Given the description of an element on the screen output the (x, y) to click on. 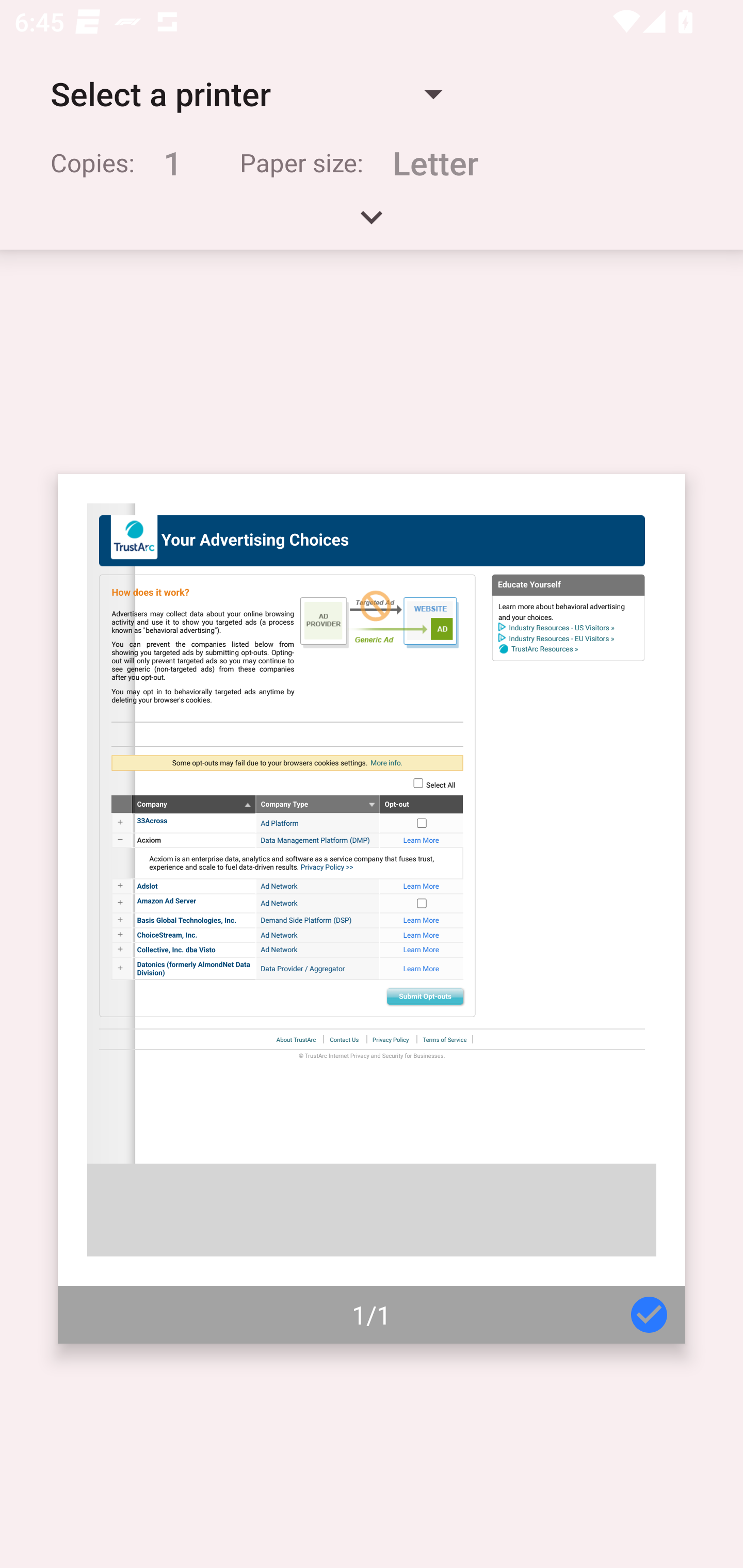
Select a printer (245, 93)
Expand handle (371, 224)
Page 1 of 1 1/1 (371, 908)
